Given the description of an element on the screen output the (x, y) to click on. 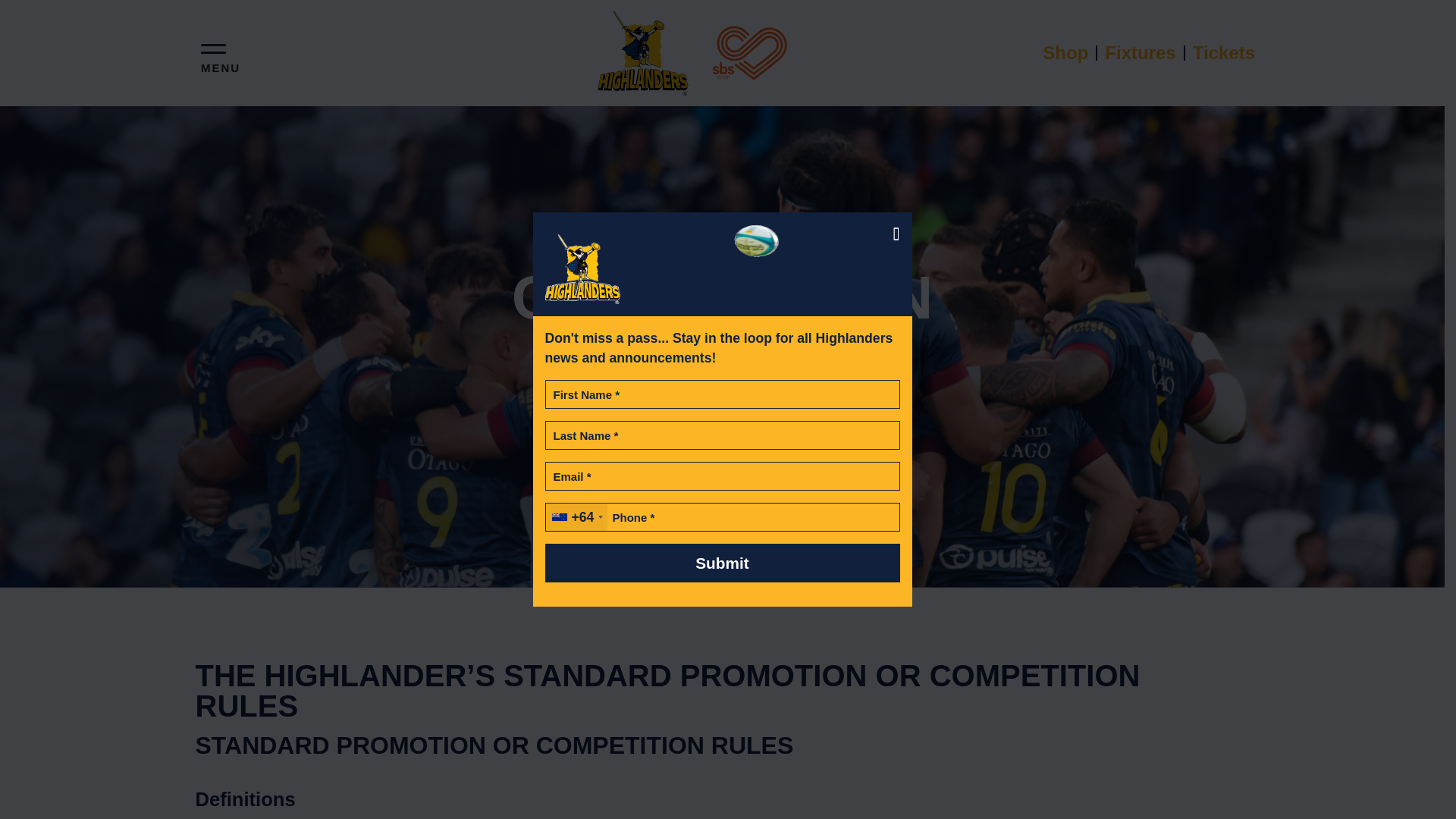
Submit (721, 562)
Shop (1066, 52)
Tickets (1220, 52)
Fixtures (1141, 52)
